Given the description of an element on the screen output the (x, y) to click on. 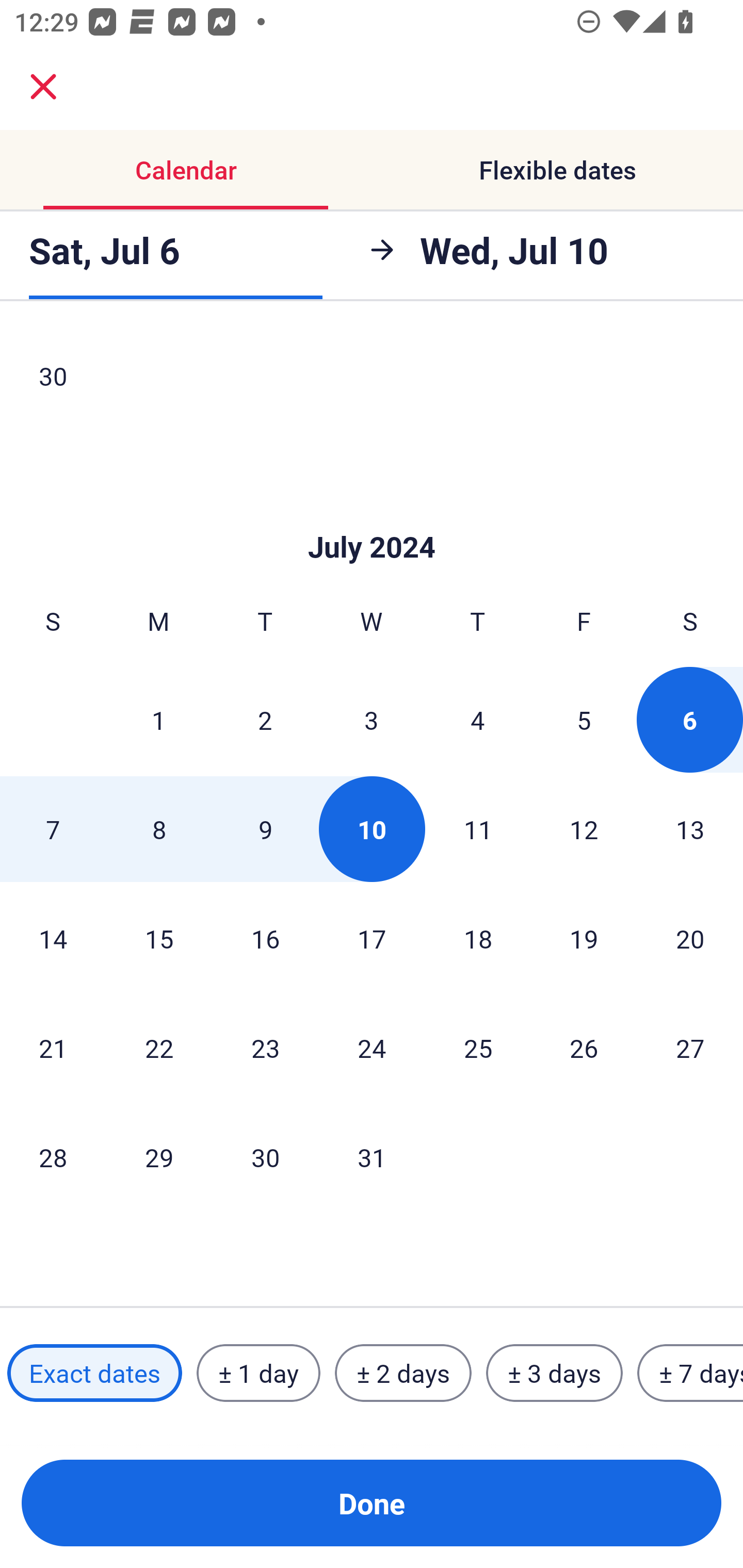
close. (43, 86)
Flexible dates (557, 170)
30 Sunday, June 30, 2024 (53, 379)
Skip to Done (371, 516)
1 Monday, July 1, 2024 (158, 719)
2 Tuesday, July 2, 2024 (264, 719)
3 Wednesday, July 3, 2024 (371, 719)
4 Thursday, July 4, 2024 (477, 719)
5 Friday, July 5, 2024 (583, 719)
11 Thursday, July 11, 2024 (477, 828)
12 Friday, July 12, 2024 (584, 828)
13 Saturday, July 13, 2024 (690, 828)
14 Sunday, July 14, 2024 (53, 937)
15 Monday, July 15, 2024 (159, 937)
16 Tuesday, July 16, 2024 (265, 937)
17 Wednesday, July 17, 2024 (371, 937)
18 Thursday, July 18, 2024 (477, 937)
19 Friday, July 19, 2024 (584, 937)
20 Saturday, July 20, 2024 (690, 937)
21 Sunday, July 21, 2024 (53, 1047)
22 Monday, July 22, 2024 (159, 1047)
23 Tuesday, July 23, 2024 (265, 1047)
24 Wednesday, July 24, 2024 (371, 1047)
25 Thursday, July 25, 2024 (477, 1047)
26 Friday, July 26, 2024 (584, 1047)
27 Saturday, July 27, 2024 (690, 1047)
28 Sunday, July 28, 2024 (53, 1156)
29 Monday, July 29, 2024 (159, 1156)
30 Tuesday, July 30, 2024 (265, 1156)
31 Wednesday, July 31, 2024 (371, 1156)
Exact dates (94, 1372)
± 1 day (258, 1372)
± 2 days (403, 1372)
± 3 days (553, 1372)
± 7 days (690, 1372)
Done (371, 1502)
